Given the description of an element on the screen output the (x, y) to click on. 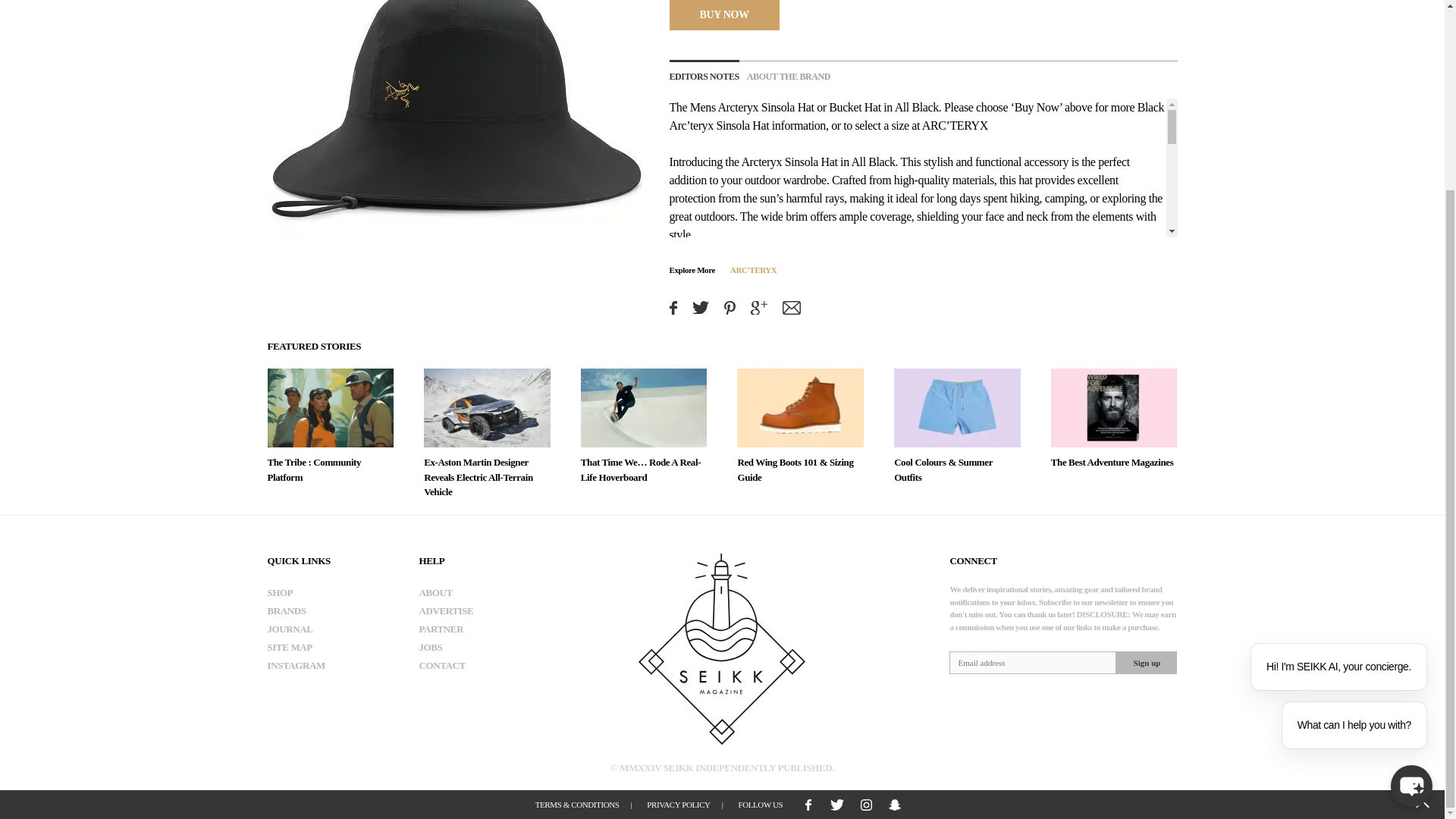
ARC'TERYX (753, 268)
BUY NOW (723, 14)
Arcteryx (737, 106)
